Given the description of an element on the screen output the (x, y) to click on. 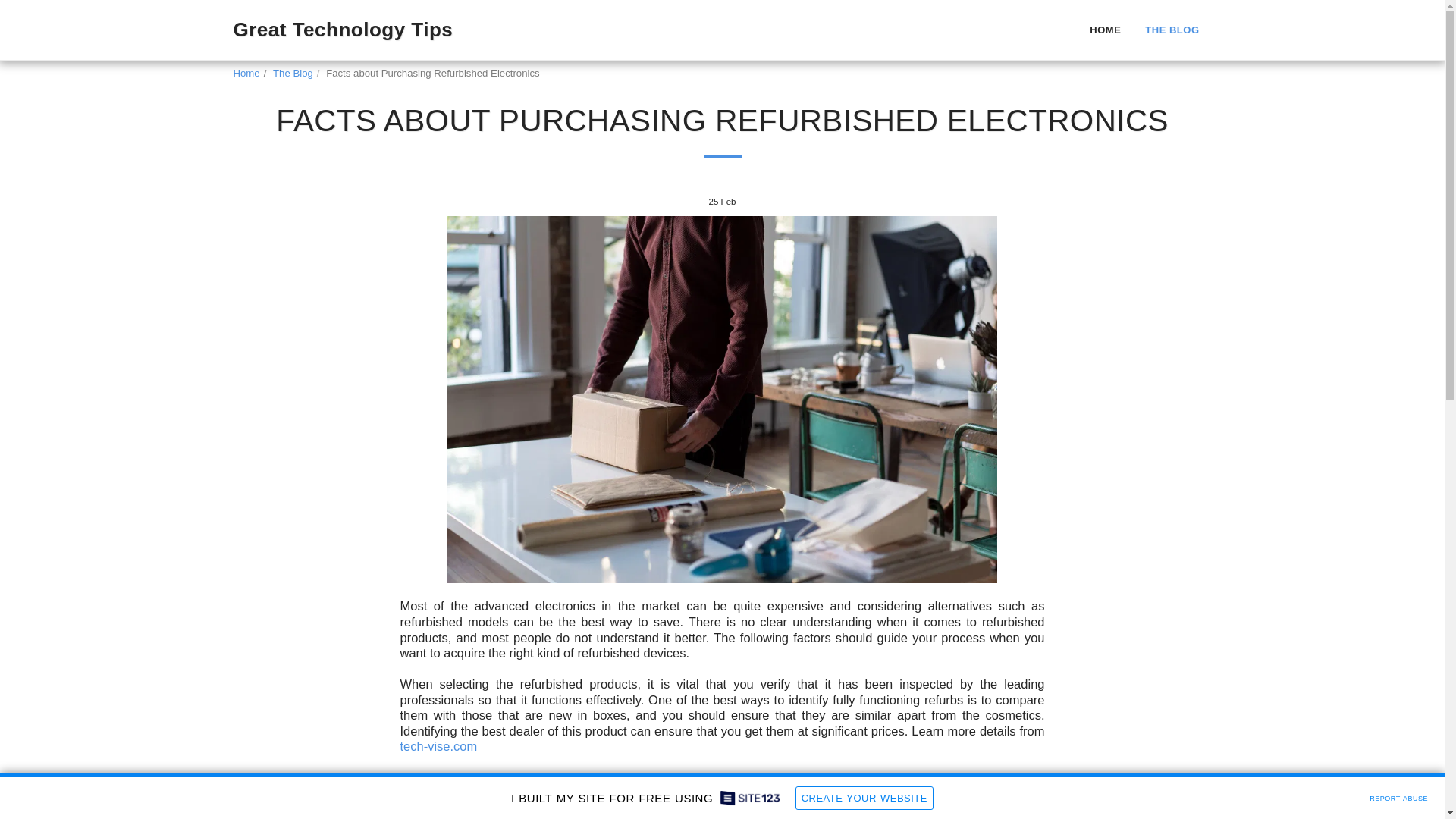
The Blog (293, 72)
tech-vise.com (438, 745)
Home (246, 72)
Great Technology Tips (342, 30)
HOME (1105, 29)
THE BLOG (1171, 29)
REPORT ABUSE (1398, 796)
